Given the description of an element on the screen output the (x, y) to click on. 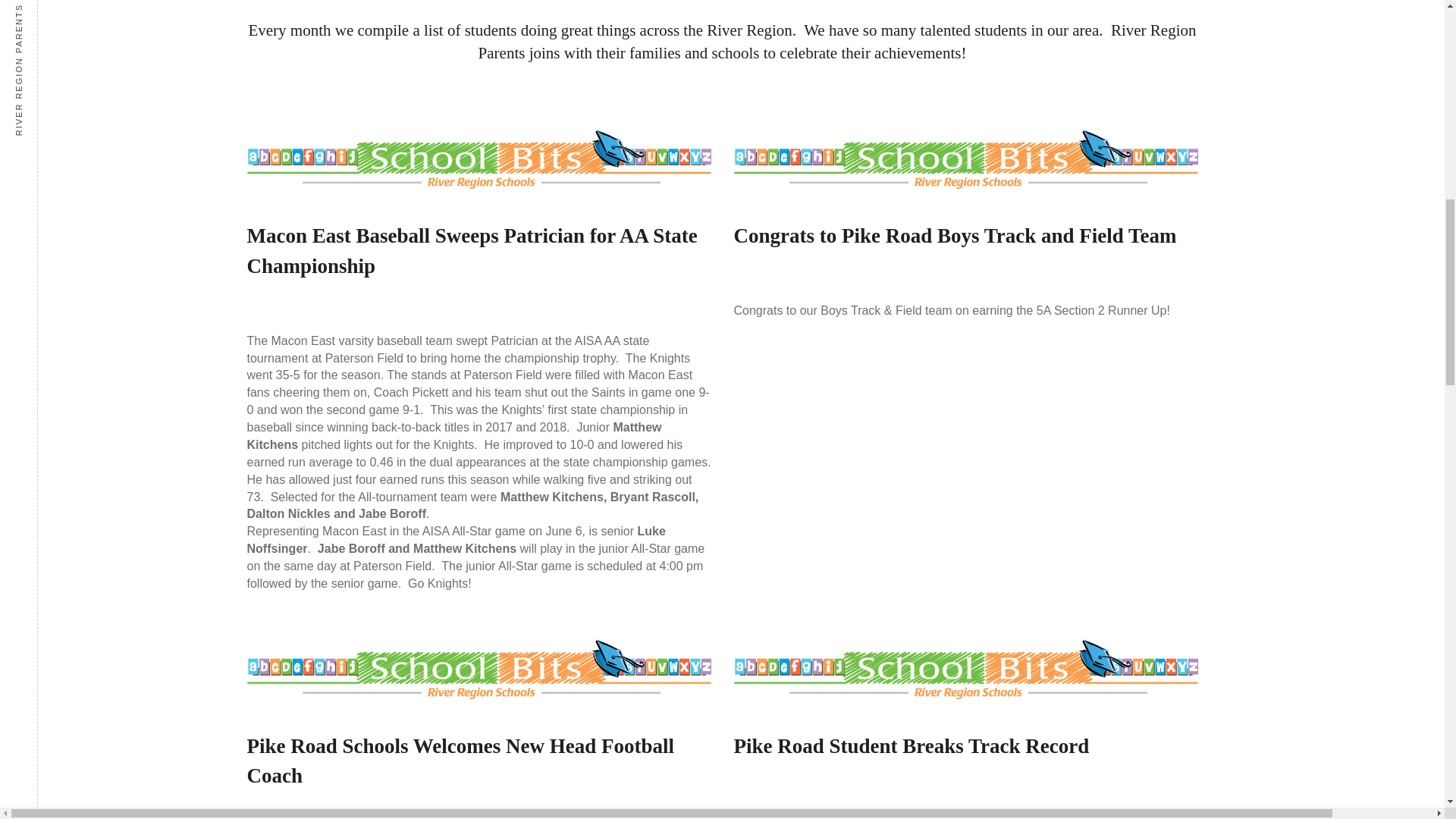
School Bits logo web (479, 669)
School Bits logo web (965, 159)
School Bits logo web (479, 159)
School Bits logo web (965, 669)
